Given the description of an element on the screen output the (x, y) to click on. 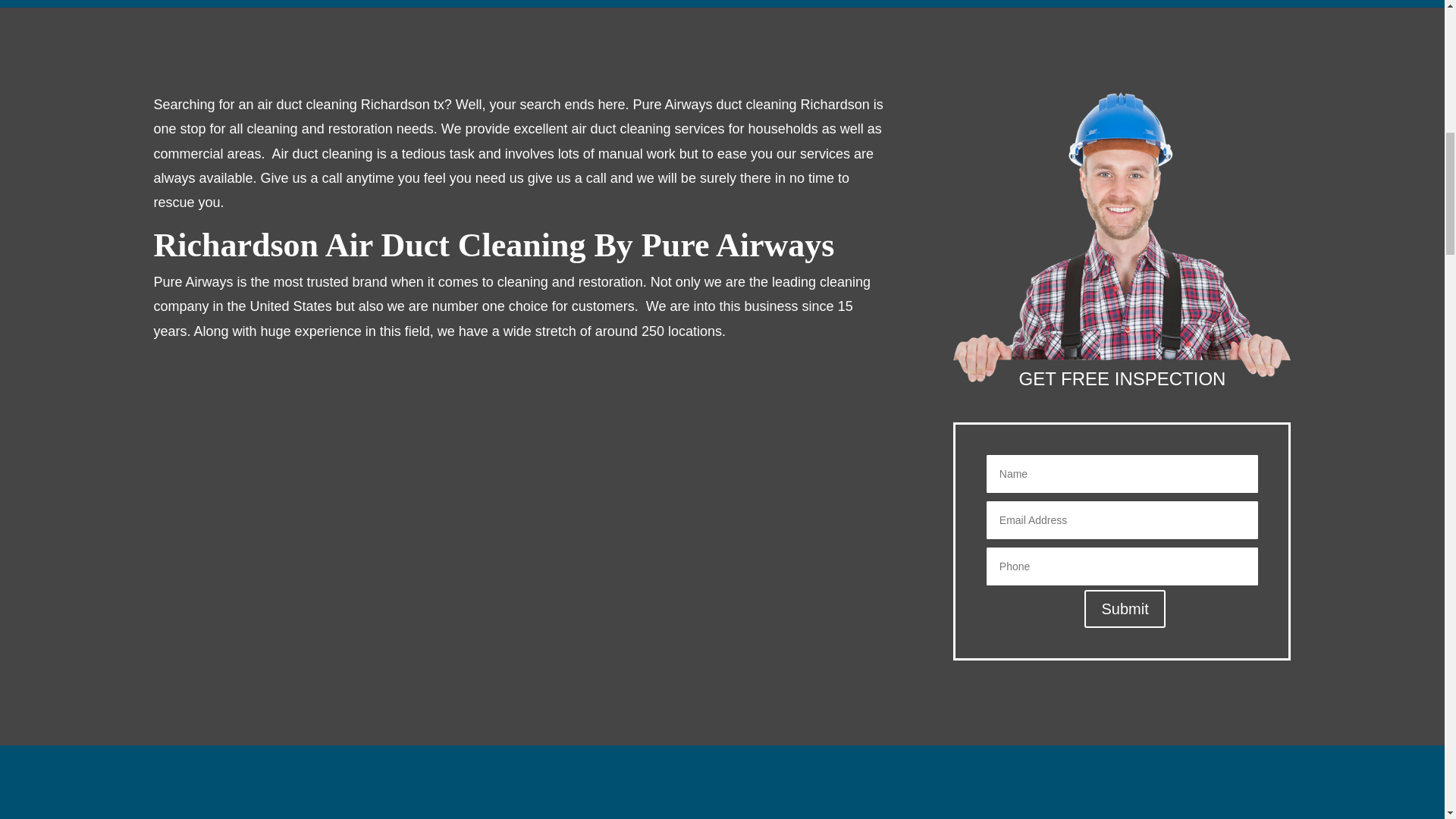
Duct Cleaning Richardson (1121, 237)
Submit (1124, 608)
